Given the description of an element on the screen output the (x, y) to click on. 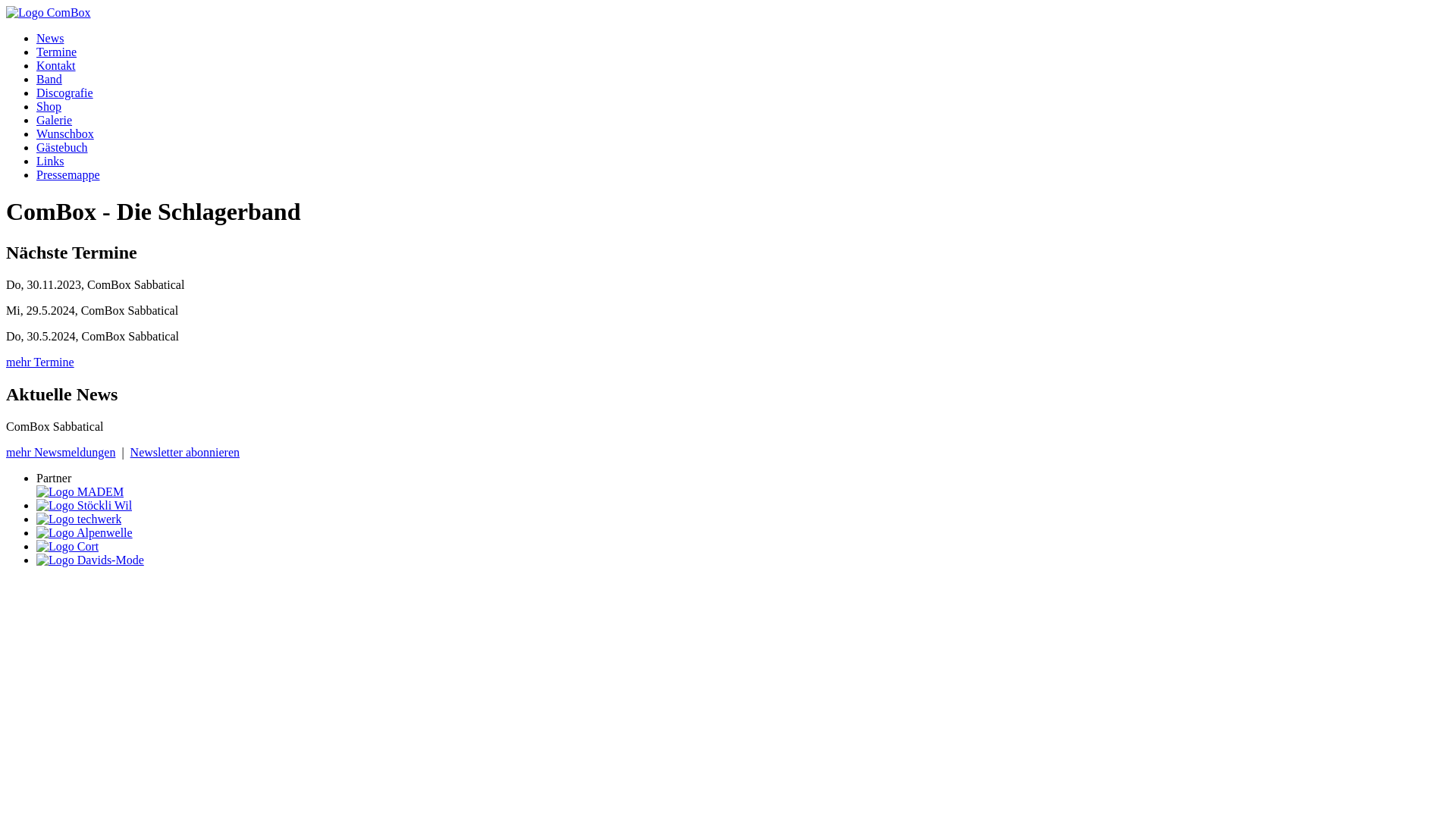
Termine Element type: text (56, 51)
Band Element type: text (49, 78)
Kontakt Element type: text (55, 65)
Newsletter abonnieren Element type: text (184, 451)
Wunschbox Element type: text (65, 133)
Galerie Element type: text (54, 119)
Link zu Davids-Mode Element type: hover (90, 559)
Links Element type: text (49, 160)
News Element type: text (49, 37)
Link zu techwerk Element type: hover (78, 518)
Link zu MADEM Element type: hover (79, 491)
Link zu Alpenwelle Element type: hover (84, 532)
mehr Newsmeldungen Element type: text (60, 451)
Discografie Element type: text (64, 92)
mehr Termine Element type: text (40, 361)
Pressemappe Element type: text (68, 174)
Shop Element type: text (48, 106)
Link zu Cort Element type: hover (67, 545)
